Given the description of an element on the screen output the (x, y) to click on. 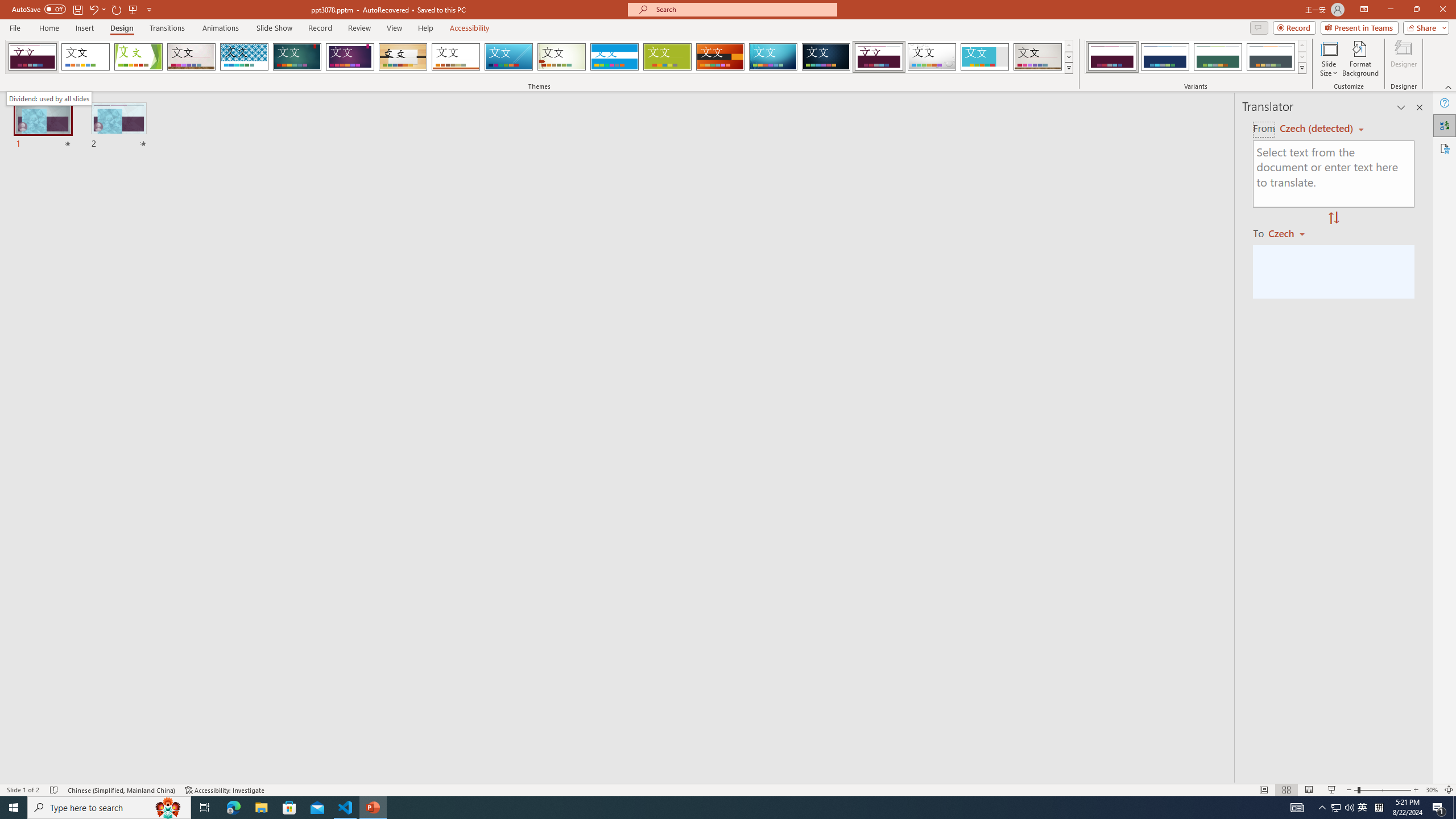
Banded (614, 56)
Dividend Variant 4 (1270, 56)
Frame (984, 56)
Droplet (931, 56)
Czech (1291, 232)
Wisp (561, 56)
Basis (667, 56)
Dividend Variant 1 (1112, 56)
Slice (508, 56)
